Given the description of an element on the screen output the (x, y) to click on. 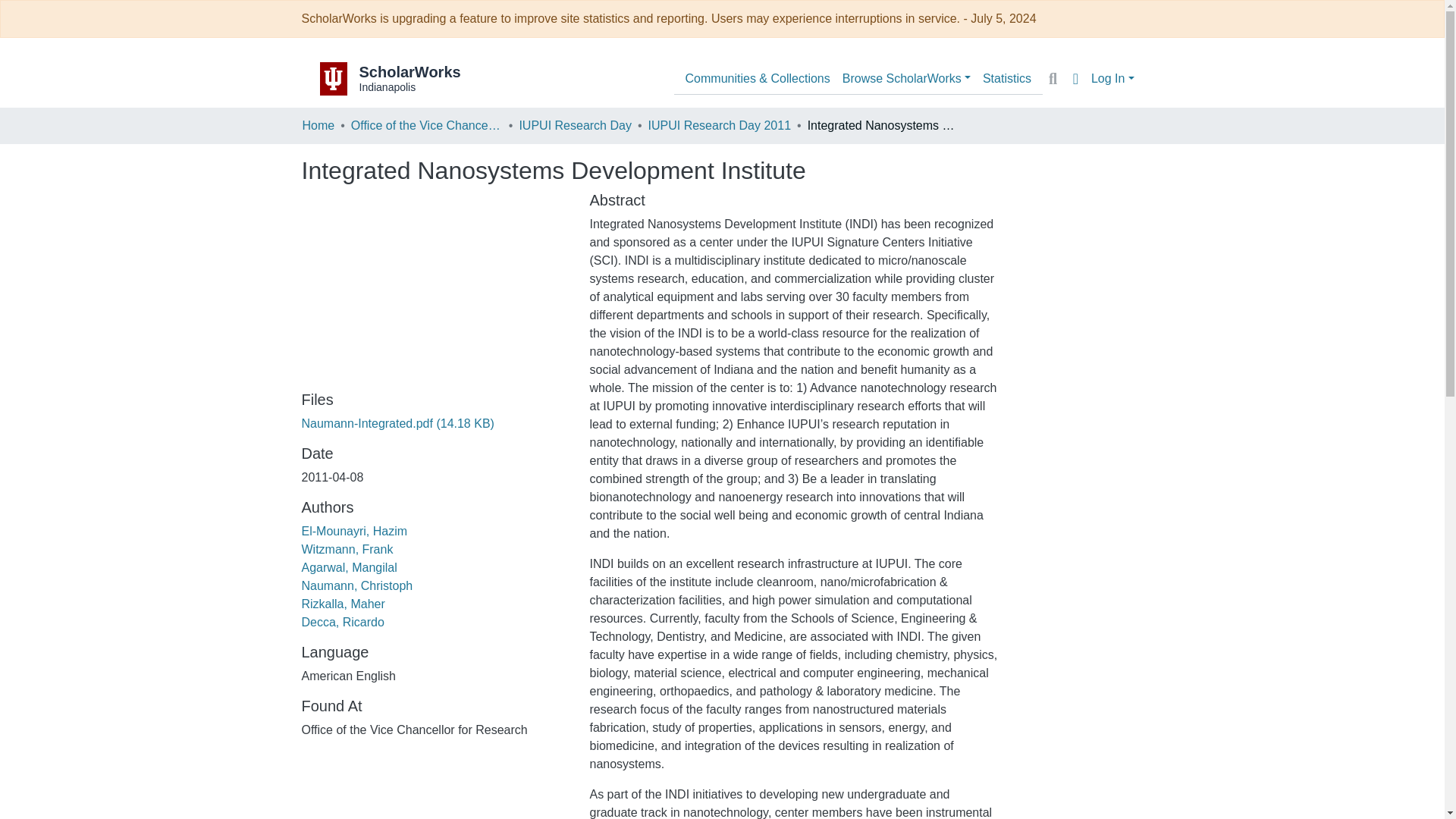
Home (317, 126)
IUPUI Research Day (574, 126)
Browse ScholarWorks (905, 78)
Search (1052, 78)
Rizkalla, Maher (343, 603)
Statistics (1006, 78)
Language switch (1074, 78)
Witzmann, Frank (347, 549)
Statistics (1006, 78)
Decca, Ricardo (342, 621)
